Given the description of an element on the screen output the (x, y) to click on. 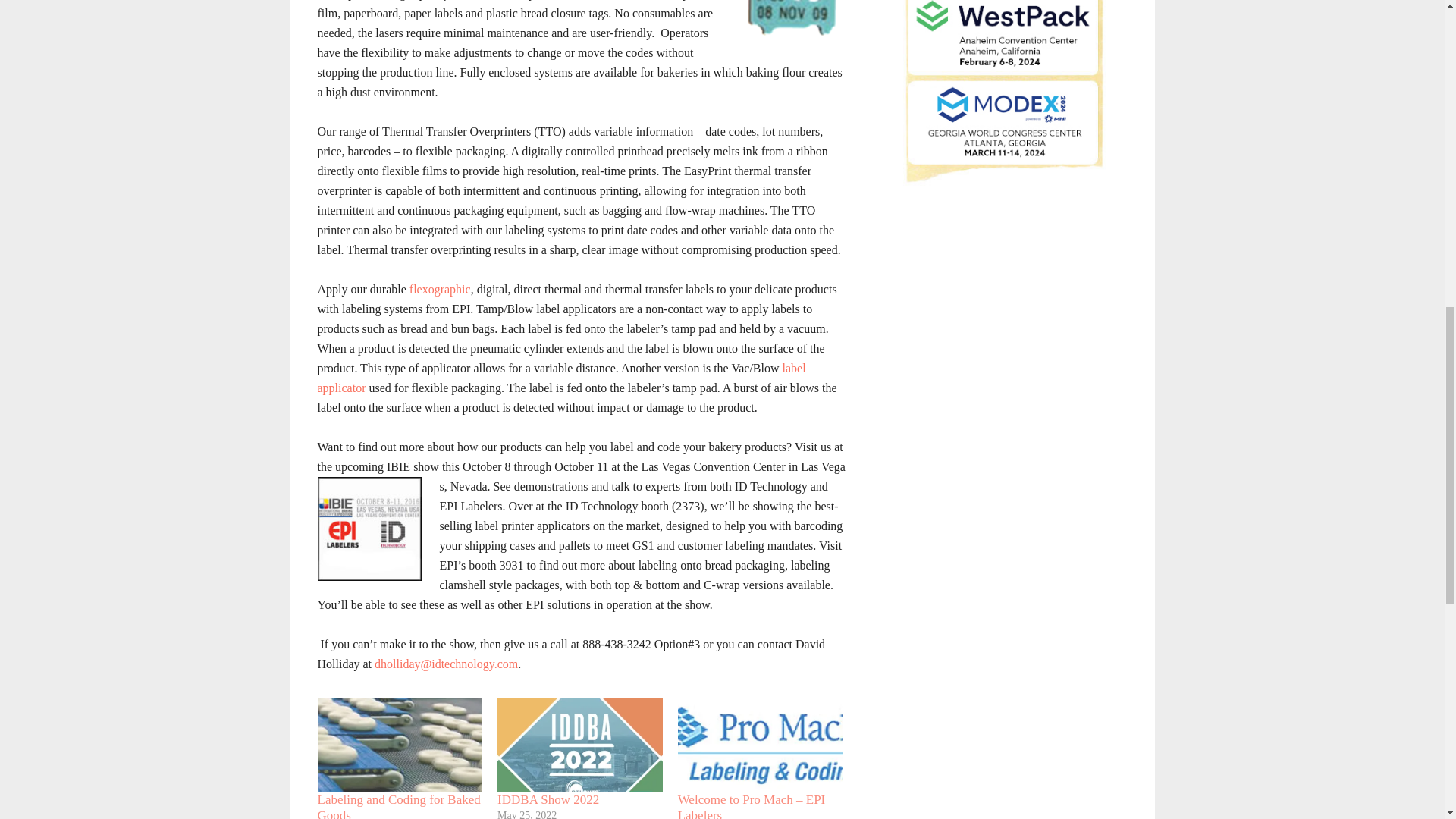
label applicator (561, 377)
Labeling and Coding for Baked Goods (398, 805)
flexographic (439, 287)
flexographic (439, 287)
Labeling and Coding for Baked Goods (399, 744)
IDDBA Show 2022 (579, 744)
IDDBA Show 2022 (547, 799)
